Given the description of an element on the screen output the (x, y) to click on. 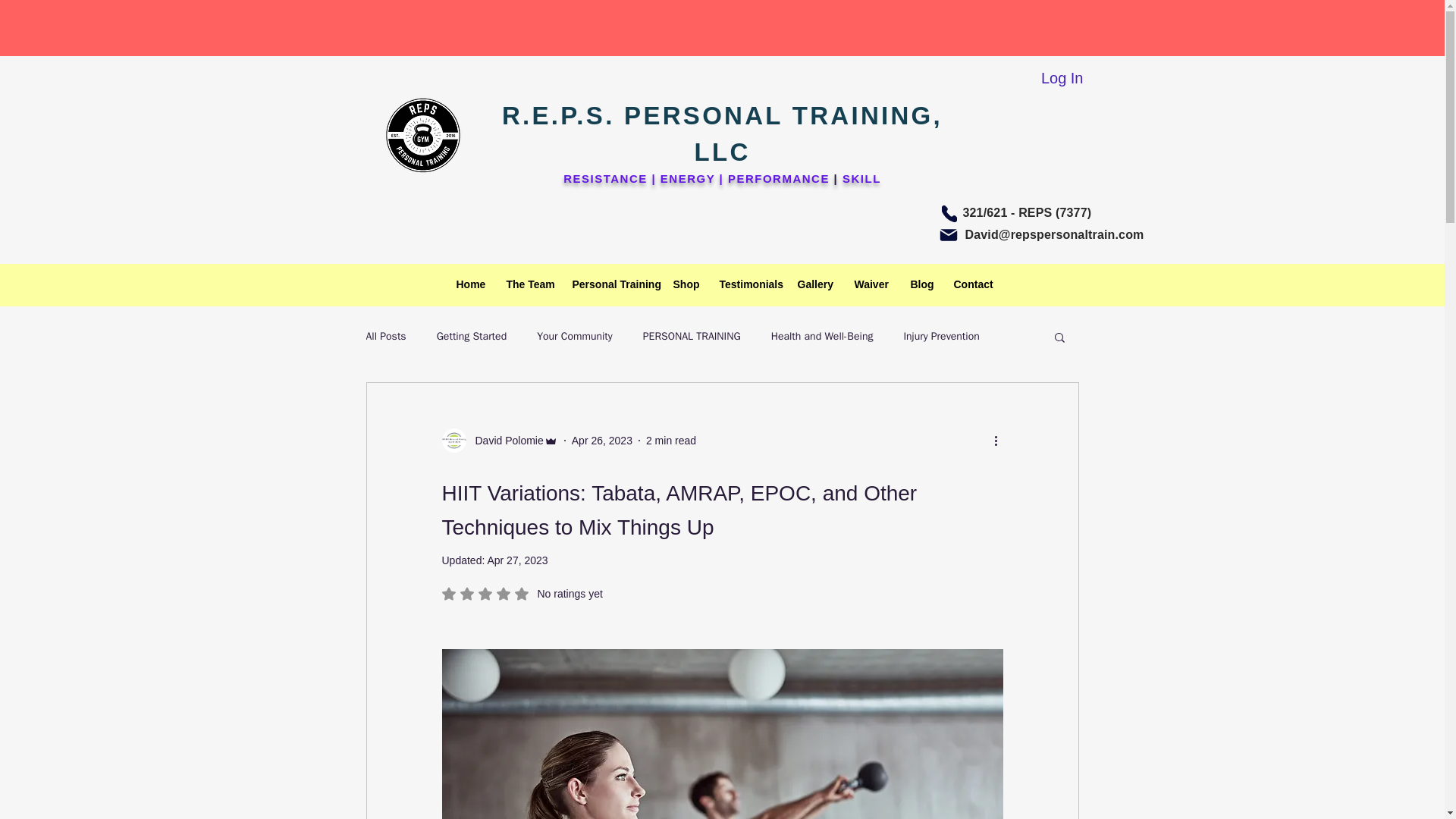
Health and Well-Being (822, 336)
David Polomie (504, 440)
PERSONAL TRAINING (521, 593)
Testimonials (692, 336)
David Polomie (746, 284)
Contact (499, 440)
All Posts (970, 284)
Waiver (385, 336)
Blog (871, 284)
Getting Started (920, 284)
2 min read (471, 336)
Injury Prevention (670, 440)
Personal Training (940, 336)
Log In (611, 284)
